Given the description of an element on the screen output the (x, y) to click on. 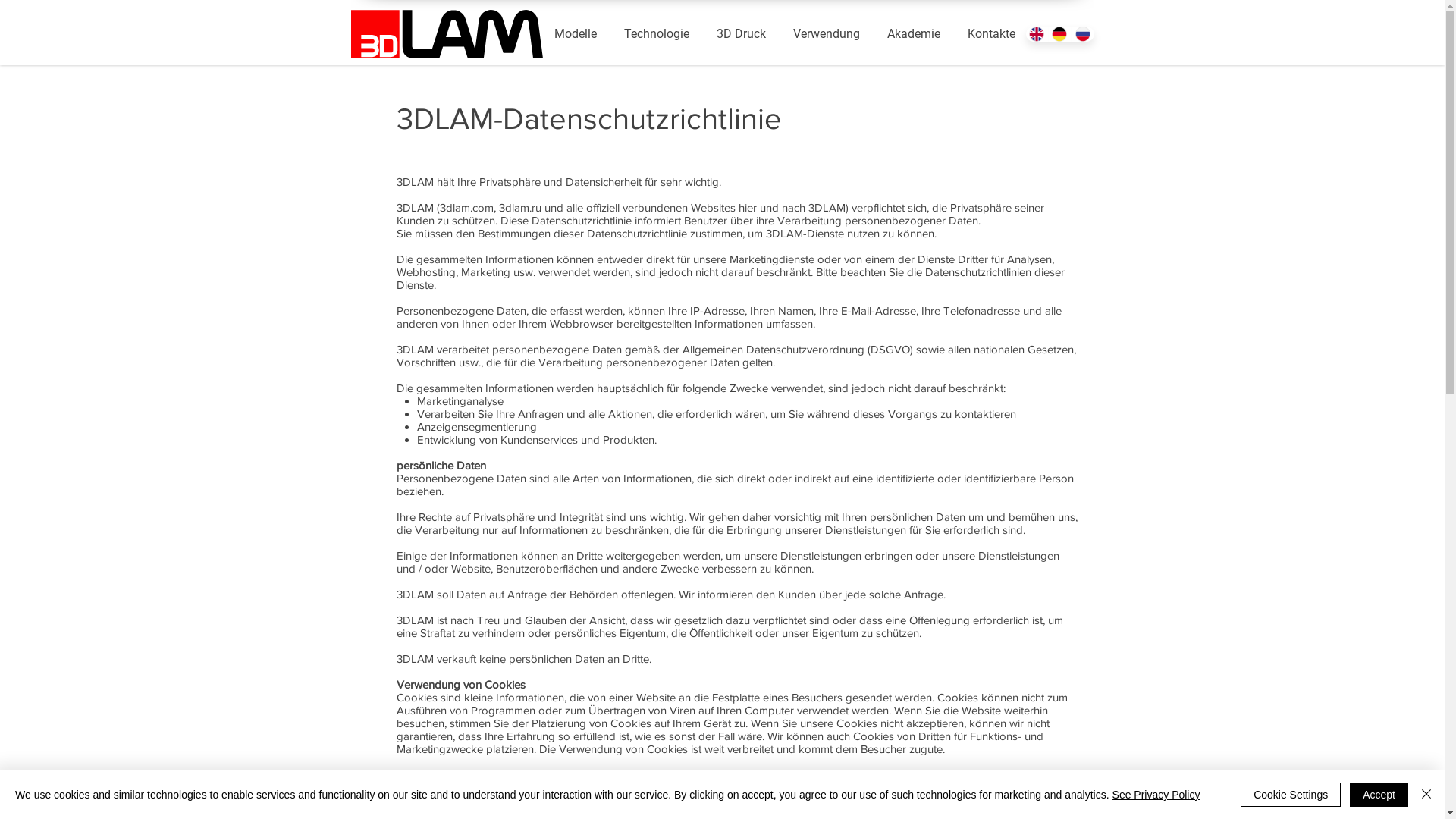
Akademie Element type: text (913, 34)
Accept Element type: text (1378, 794)
Technologie Element type: text (655, 34)
See Privacy Policy Element type: text (1156, 794)
3D Druck Element type: text (740, 34)
Kontakte Element type: text (991, 34)
Modelle Element type: text (574, 34)
Cookie Settings Element type: text (1290, 794)
Verwendung Element type: text (826, 34)
